Given the description of an element on the screen output the (x, y) to click on. 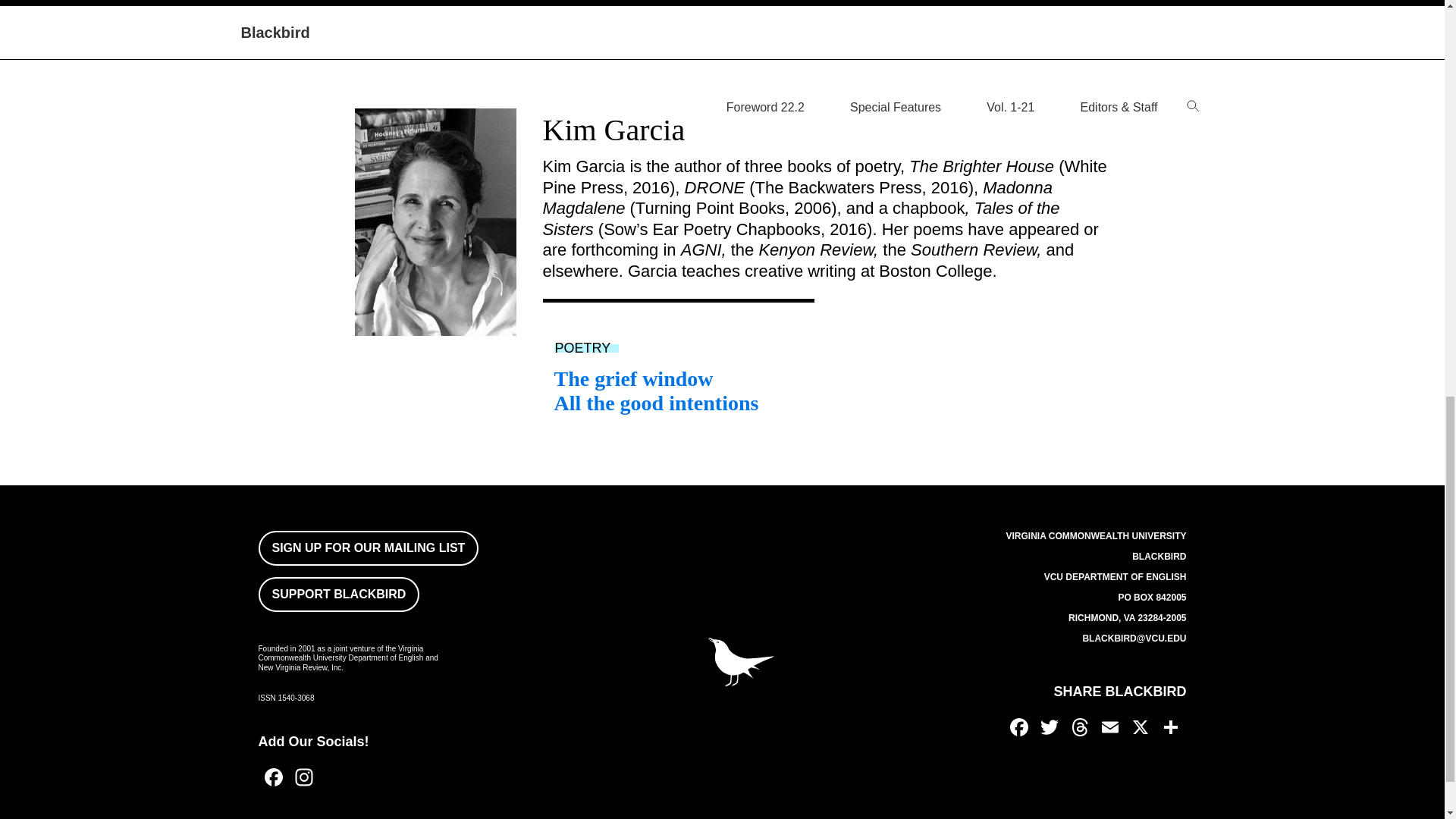
Email (411, 13)
SUPPORT BLACKBIRD (338, 594)
SIGN UP FOR OUR MAILING LIST (368, 547)
Facebook (272, 778)
Instagram (303, 778)
X (441, 13)
The grief window (633, 378)
TWITTER (1048, 728)
THREADS (1079, 728)
X (1140, 728)
X (1140, 728)
X (441, 13)
Email (1109, 728)
Facebook (272, 778)
Twitter (1048, 728)
